Given the description of an element on the screen output the (x, y) to click on. 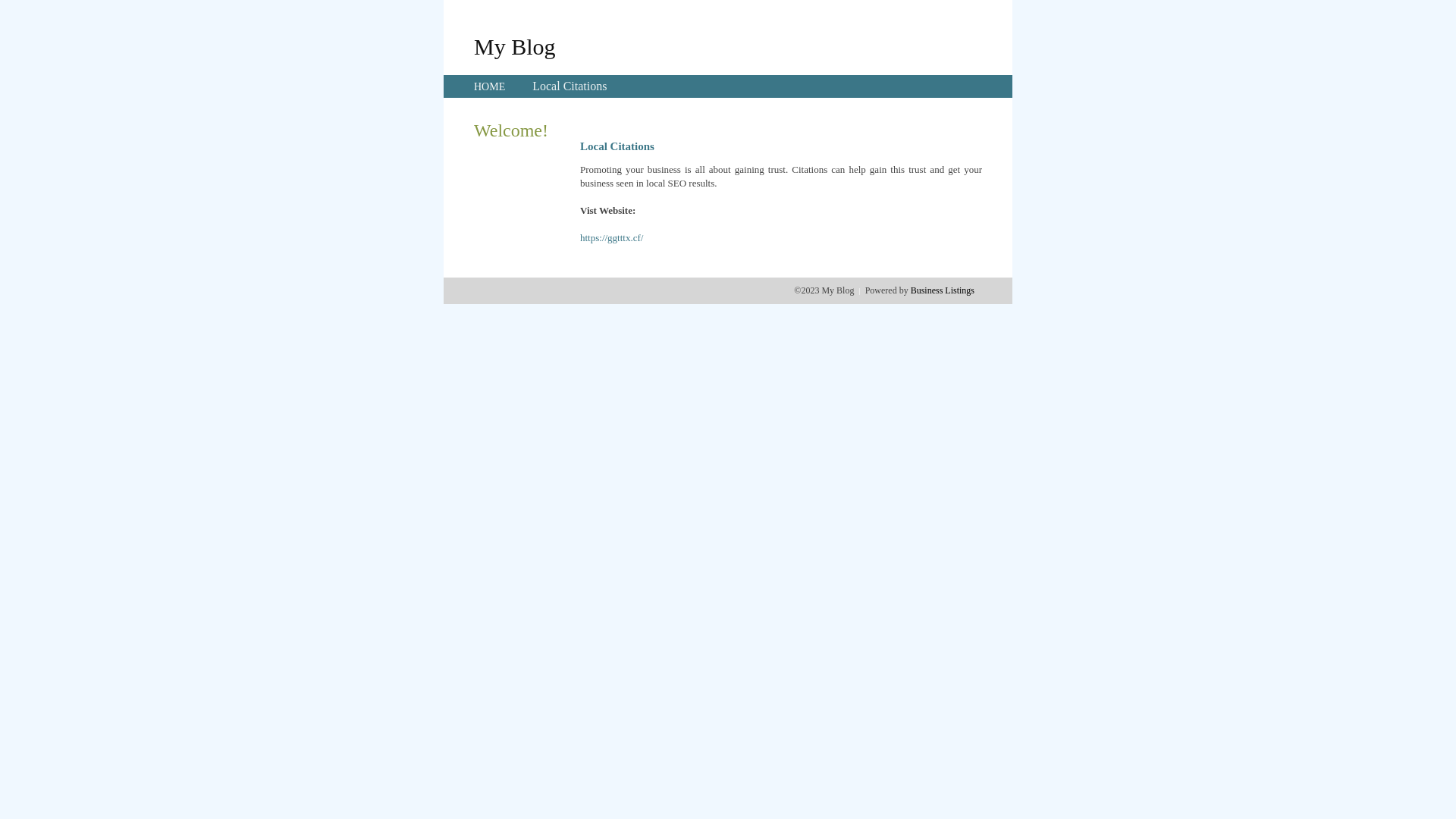
HOME Element type: text (489, 86)
https://ggtttx.cf/ Element type: text (611, 237)
Business Listings Element type: text (942, 290)
My Blog Element type: text (514, 46)
Local Citations Element type: text (569, 85)
